Given the description of an element on the screen output the (x, y) to click on. 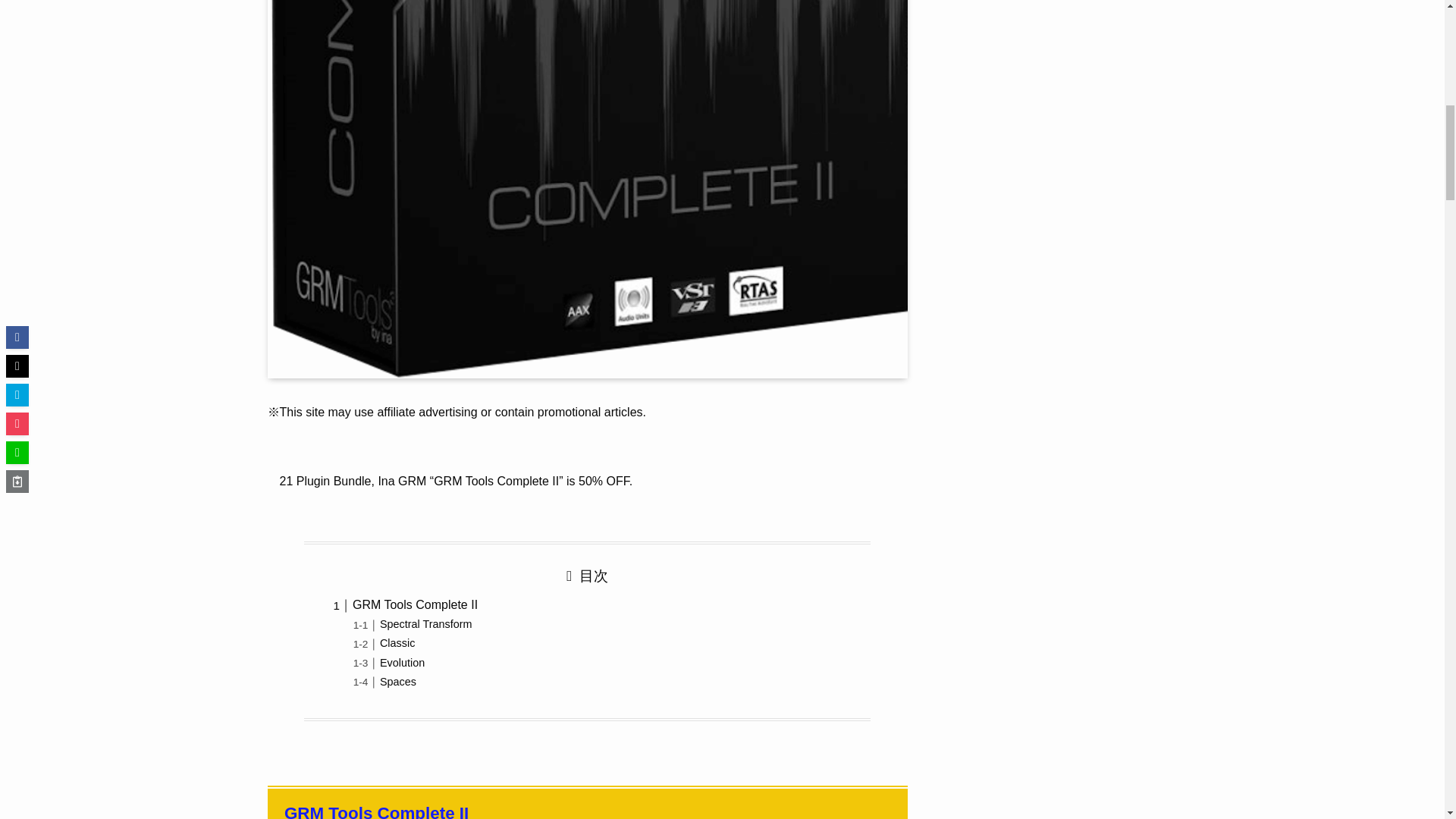
GRM Tools Complete II (414, 604)
GRM Tools Complete II (375, 811)
Spectral Transform (425, 623)
Classic (397, 643)
Spaces (398, 681)
Evolution (402, 662)
